Given the description of an element on the screen output the (x, y) to click on. 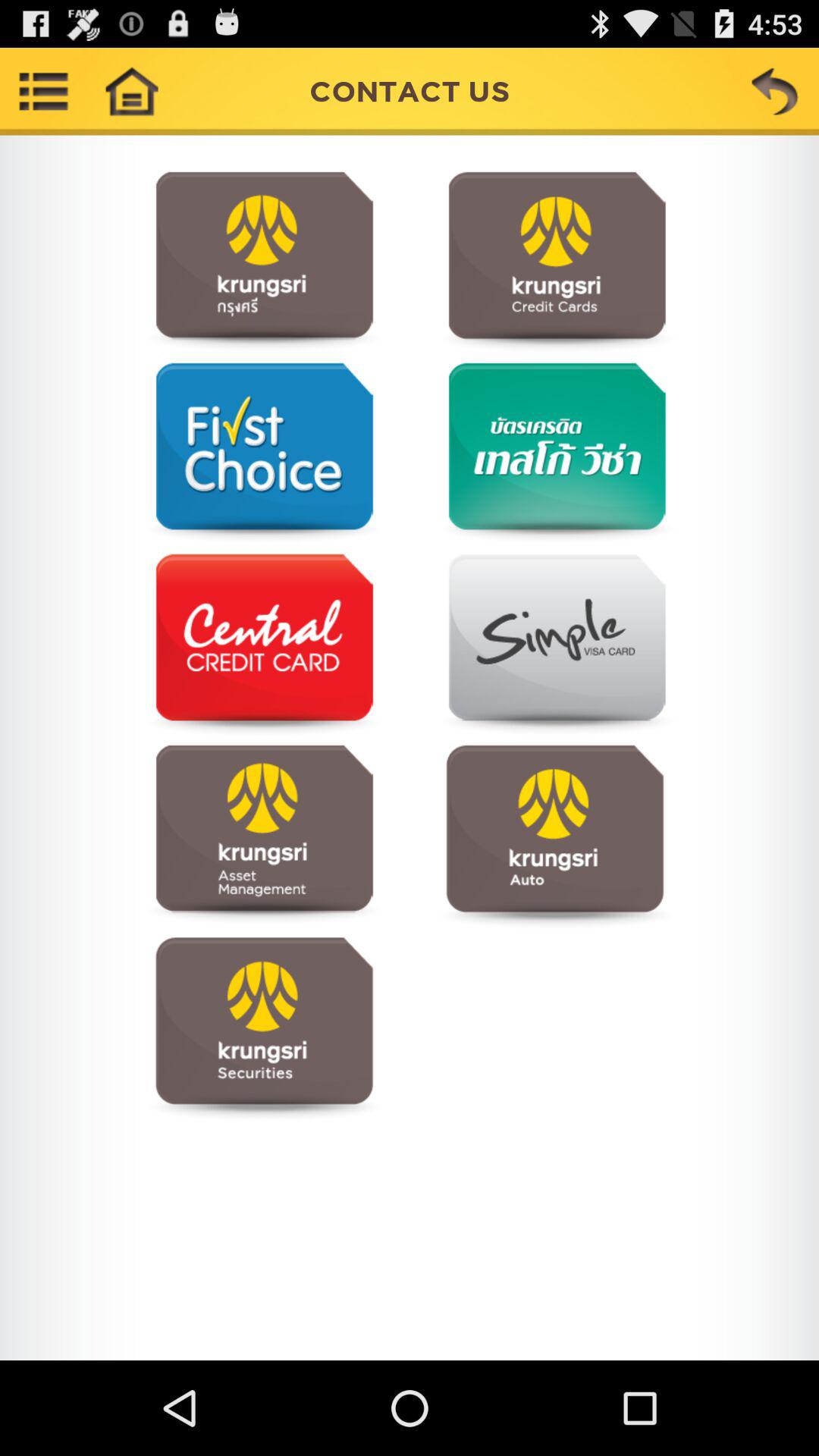
menu buttton (43, 91)
